Given the description of an element on the screen output the (x, y) to click on. 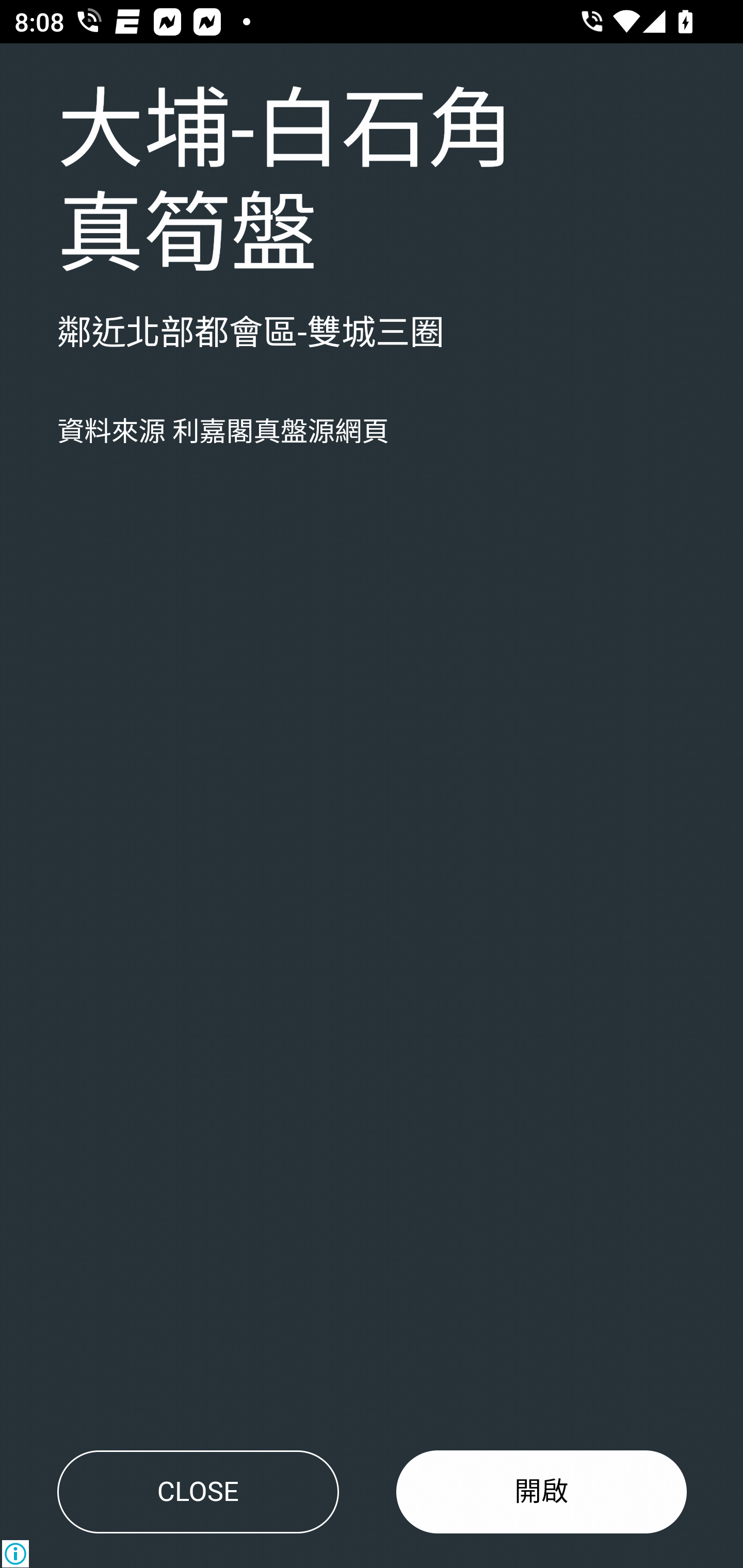
大埔-白石角 真筍盤 大埔-白石角 真筍盤 (285, 182)
鄰近北部都會區-雙城三圈 (250, 333)
資料來源 利嘉閣真盤源網頁 (222, 432)
CLOSE (197, 1491)
開啟 (541, 1491)
